Given the description of an element on the screen output the (x, y) to click on. 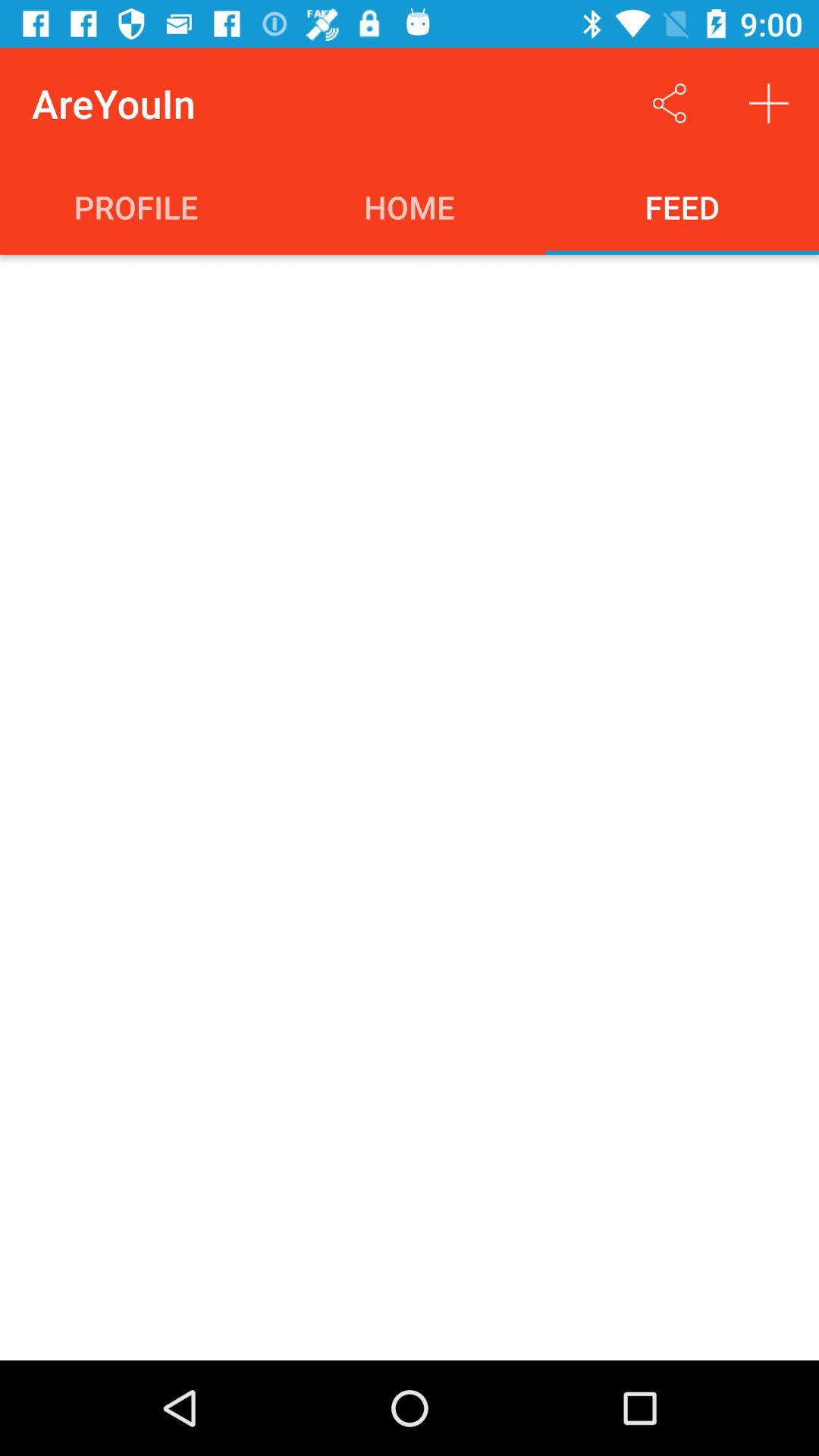
share (669, 103)
